Given the description of an element on the screen output the (x, y) to click on. 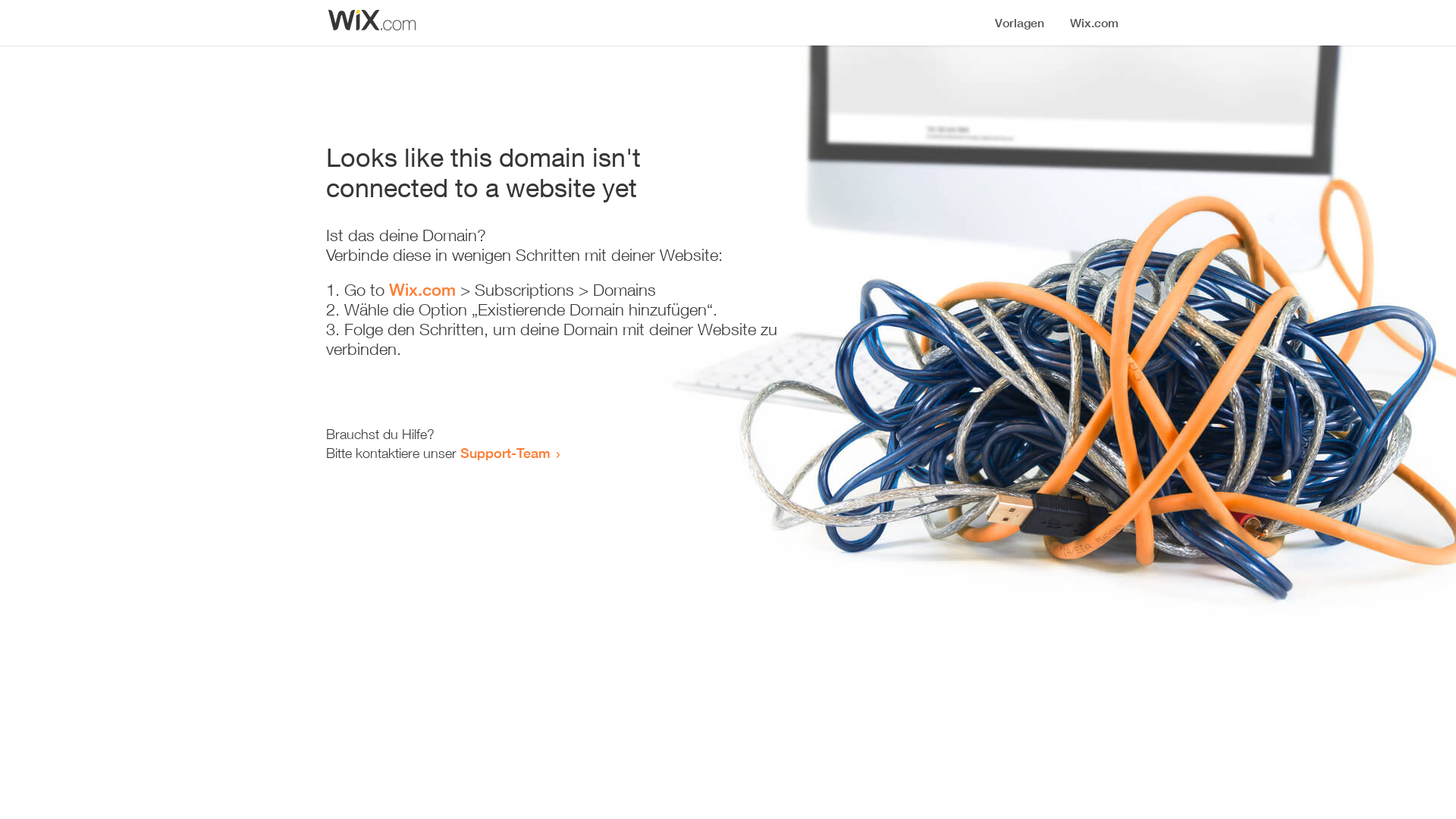
Wix.com Element type: text (422, 289)
Support-Team Element type: text (505, 452)
